Given the description of an element on the screen output the (x, y) to click on. 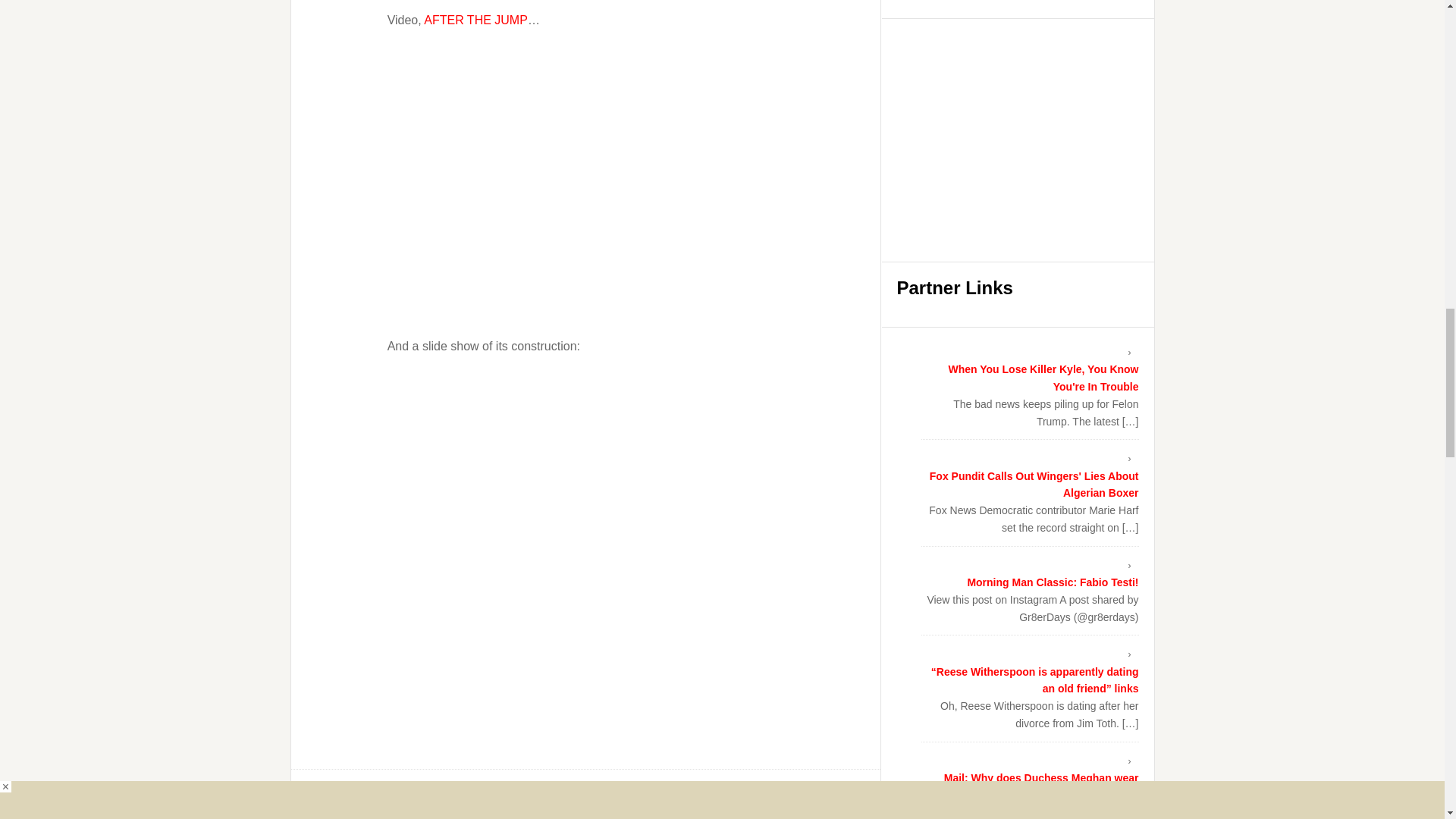
GLOBAL WARMING (687, 814)
COPENHAGEN (536, 814)
AFTER THE JUMP (475, 19)
NEWS (373, 799)
ART AND DESIGN (459, 814)
NEWS (748, 814)
COPENHAGEN (606, 814)
